Given the description of an element on the screen output the (x, y) to click on. 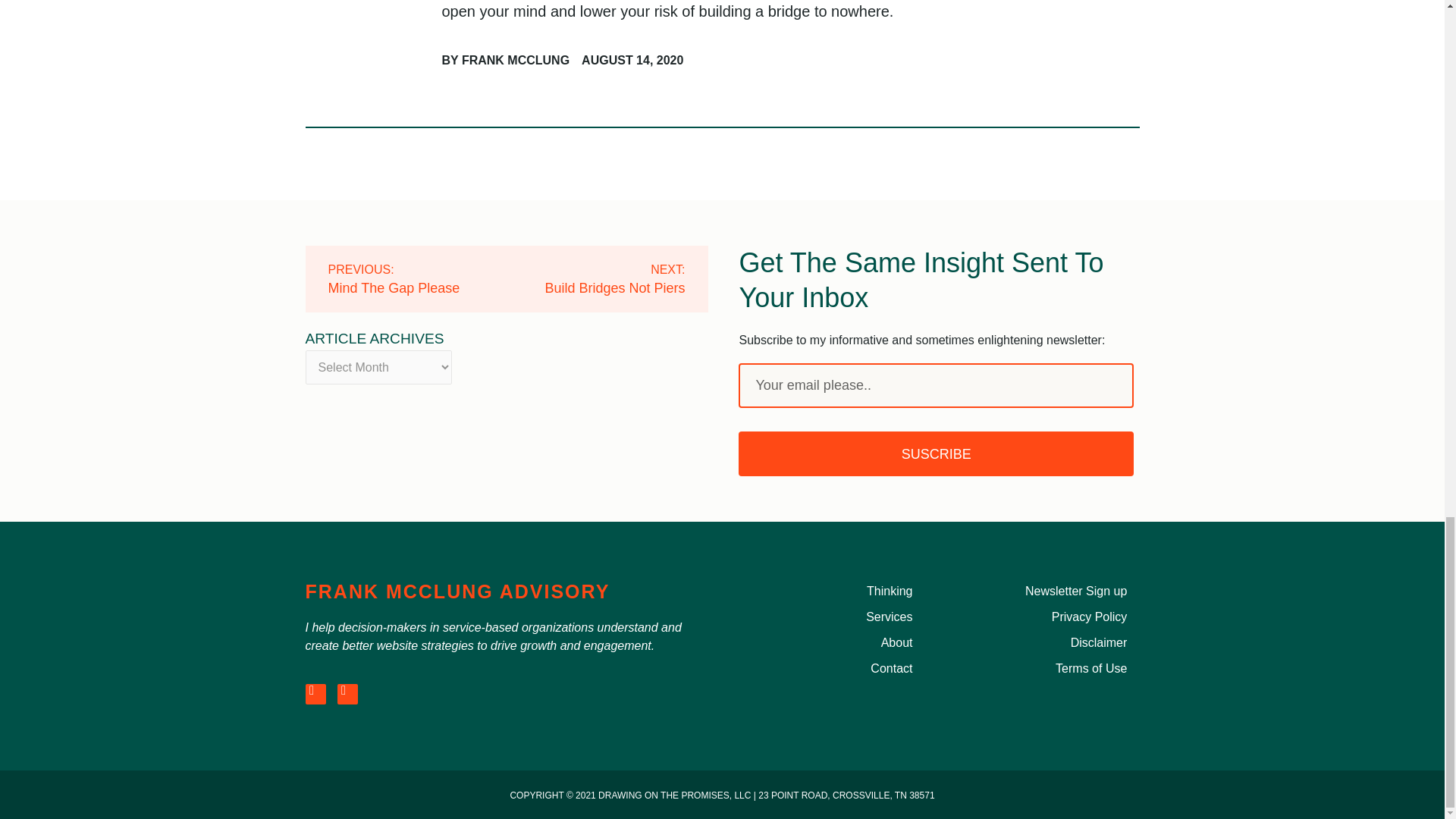
Disclaimer (1044, 642)
Newsletter Sign up (1044, 591)
Contact (828, 669)
FRANK MCCLUNG ADVISORY (457, 590)
About (828, 642)
SUSCRIBE (935, 453)
Privacy Policy (1044, 617)
Linkedin (314, 693)
Twitter (416, 279)
